Given the description of an element on the screen output the (x, y) to click on. 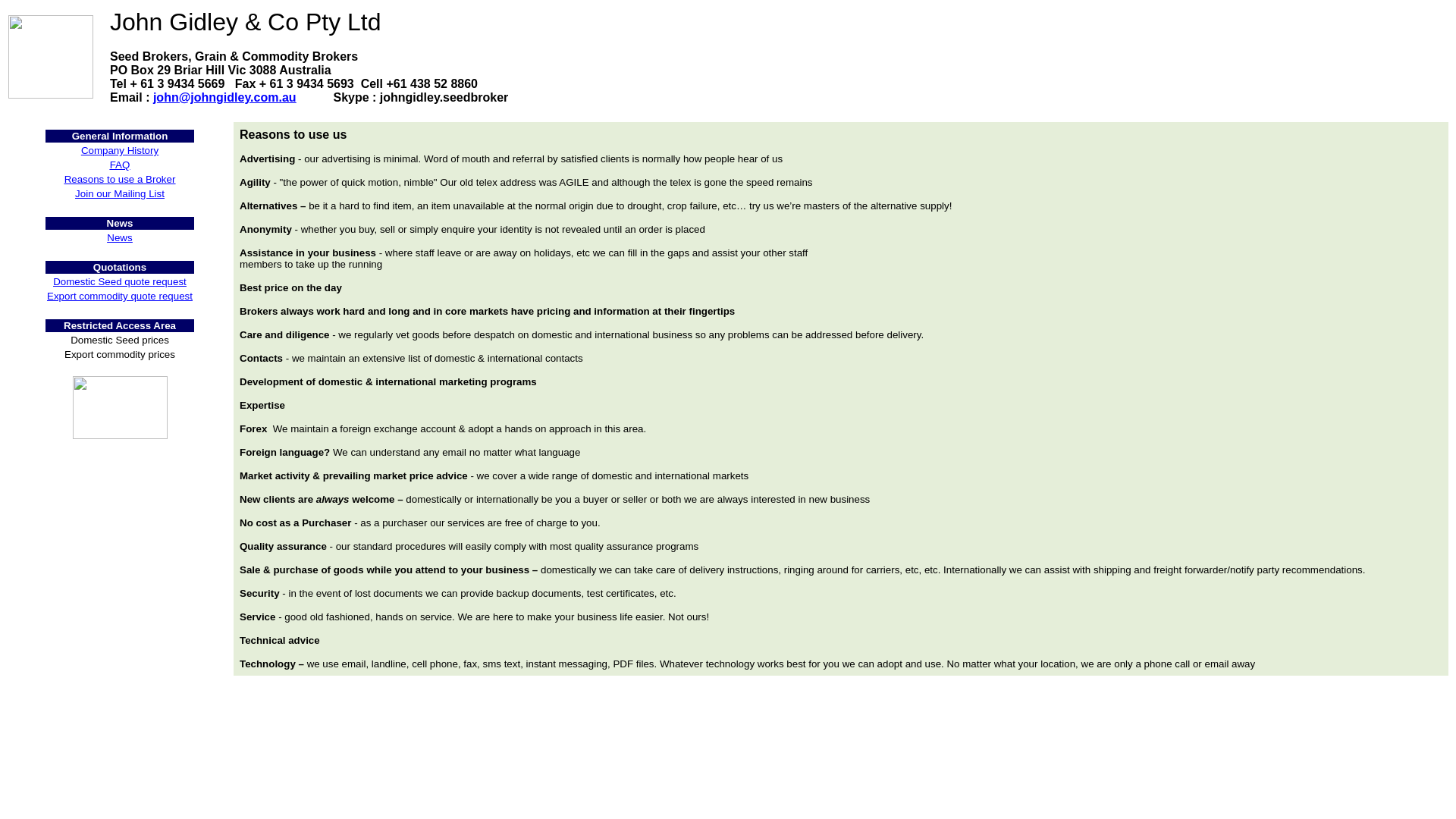
Join our Mailing List (119, 193)
Domestic Seed quote request (119, 281)
Reasons to use a Broker (120, 179)
FAQ (120, 164)
Company History (119, 150)
News (119, 237)
Export commodity quote request (119, 296)
